Given the description of an element on the screen output the (x, y) to click on. 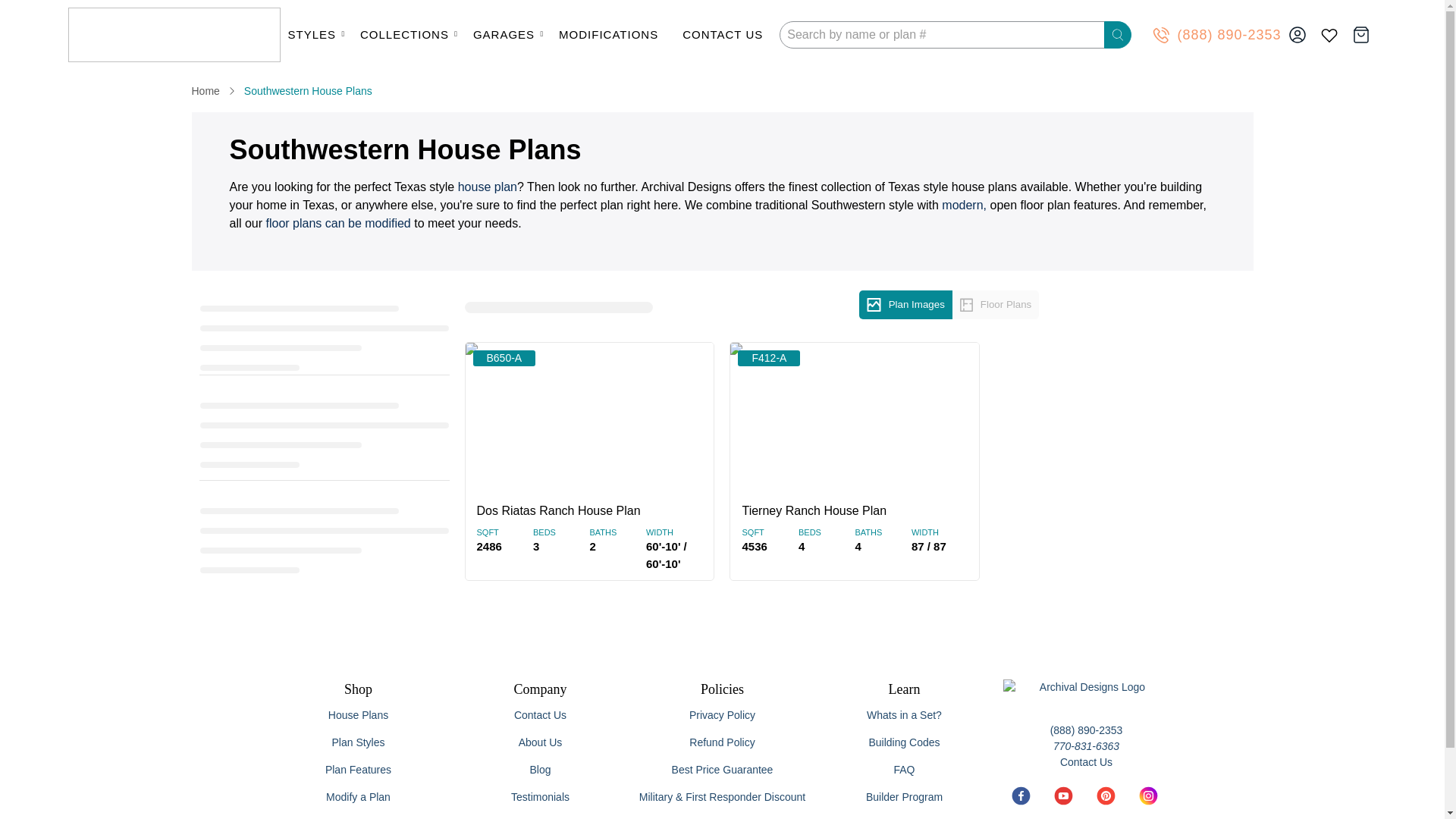
Archival Designs House Plans (174, 34)
modify a stock floor plan (338, 223)
Archival Designs House Plans (204, 90)
Archival Designs House Plans on YouTube (1062, 802)
Archival Designs House Plans on Facebook (1020, 802)
house plans (487, 186)
GARAGES (508, 35)
CONTACT US (726, 35)
Archival Designs House Plans on Pinterest (1104, 802)
STYLES (317, 35)
